Given the description of an element on the screen output the (x, y) to click on. 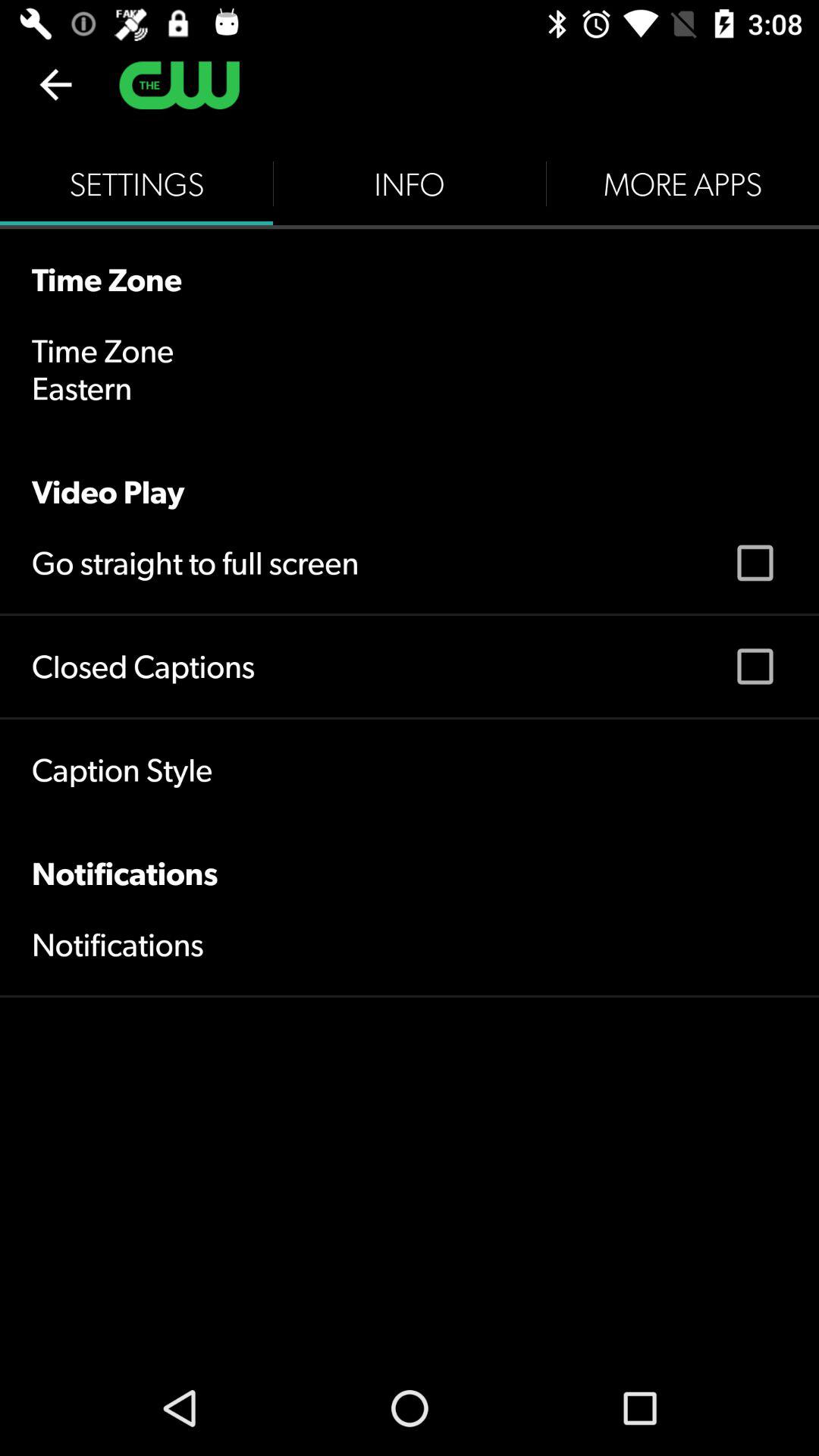
launch the item at the top right corner (682, 184)
